Given the description of an element on the screen output the (x, y) to click on. 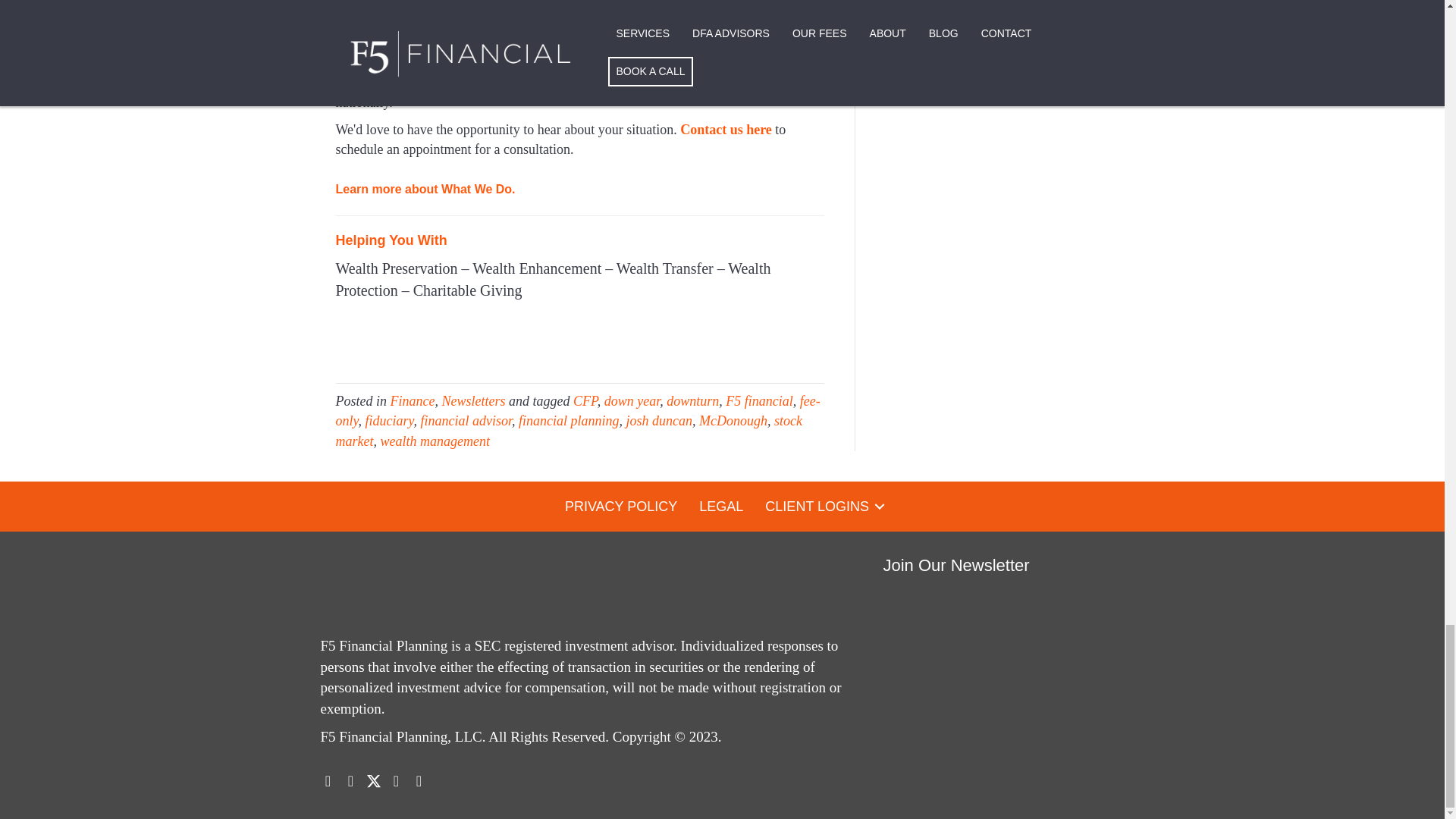
F5 Financial (371, 5)
Google Plus (395, 780)
financial planning (569, 420)
financial advisor (466, 420)
Contact us here (725, 129)
down year (632, 400)
Finance (411, 400)
downturn (692, 400)
CFP (584, 400)
fee-only (576, 410)
Learn more about What We Do. (424, 186)
RSS (418, 780)
F5 financial (759, 400)
LinkedIn (327, 780)
Newsletters (473, 400)
